Given the description of an element on the screen output the (x, y) to click on. 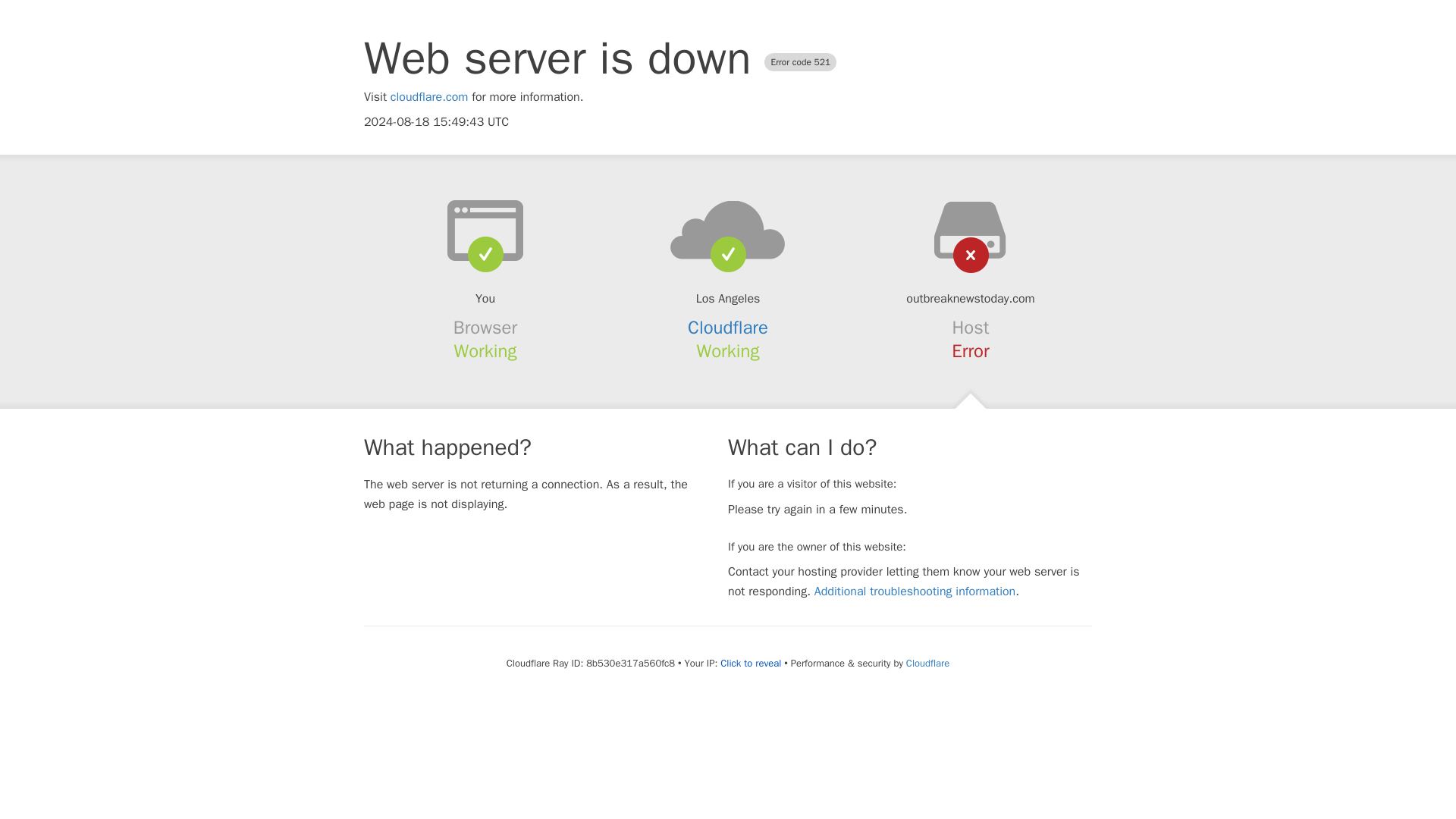
Click to reveal (750, 663)
Additional troubleshooting information (913, 590)
Cloudflare (727, 327)
cloudflare.com (429, 96)
Cloudflare (927, 662)
